Given the description of an element on the screen output the (x, y) to click on. 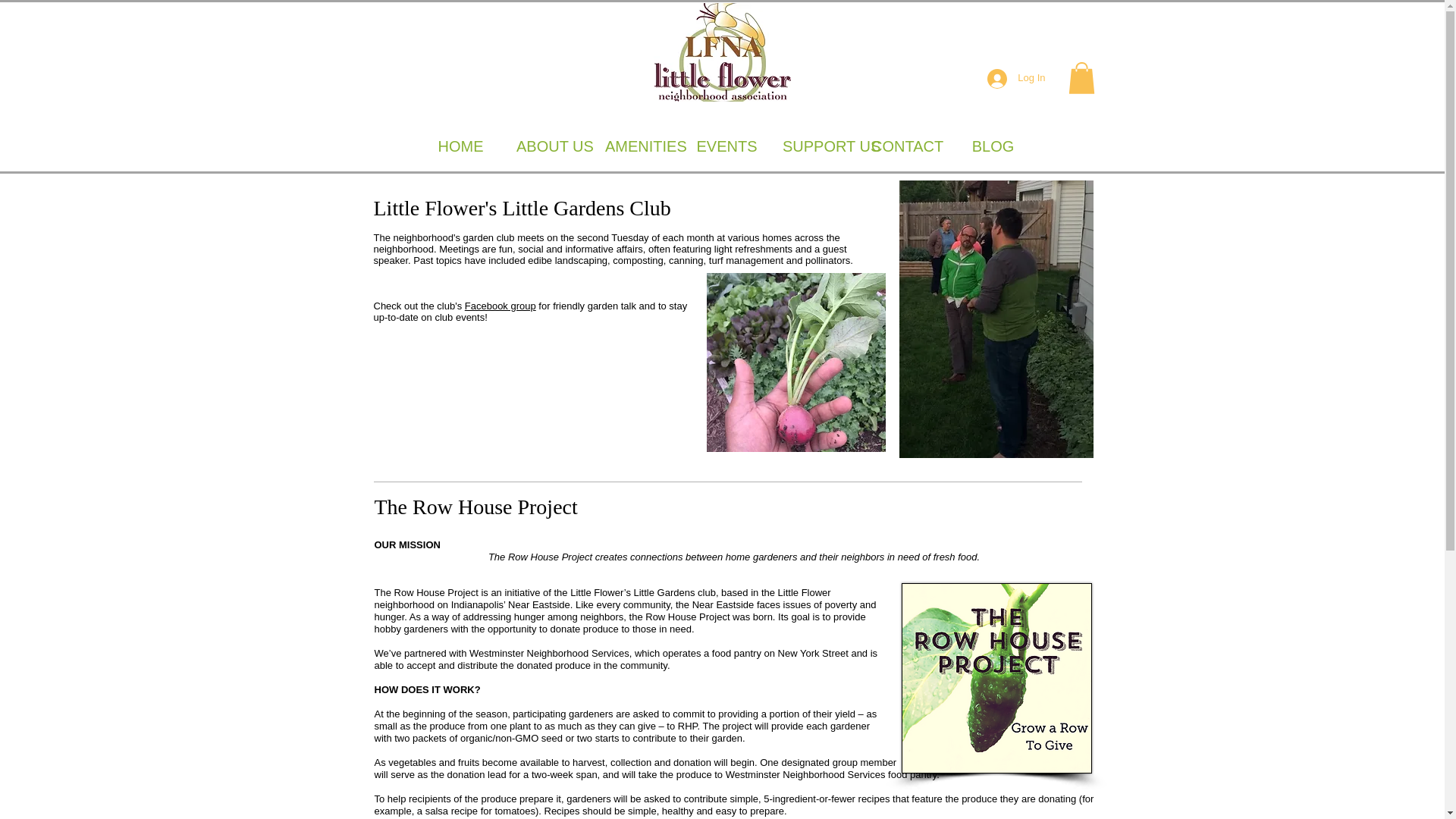
BLOG (992, 146)
SUPPORT US (815, 146)
CONTACT (904, 146)
Log In (1015, 77)
AMENITIES (638, 146)
Facebook group (499, 306)
EVENTS (726, 146)
HOME (460, 146)
ABOUT US (549, 146)
